Given the description of an element on the screen output the (x, y) to click on. 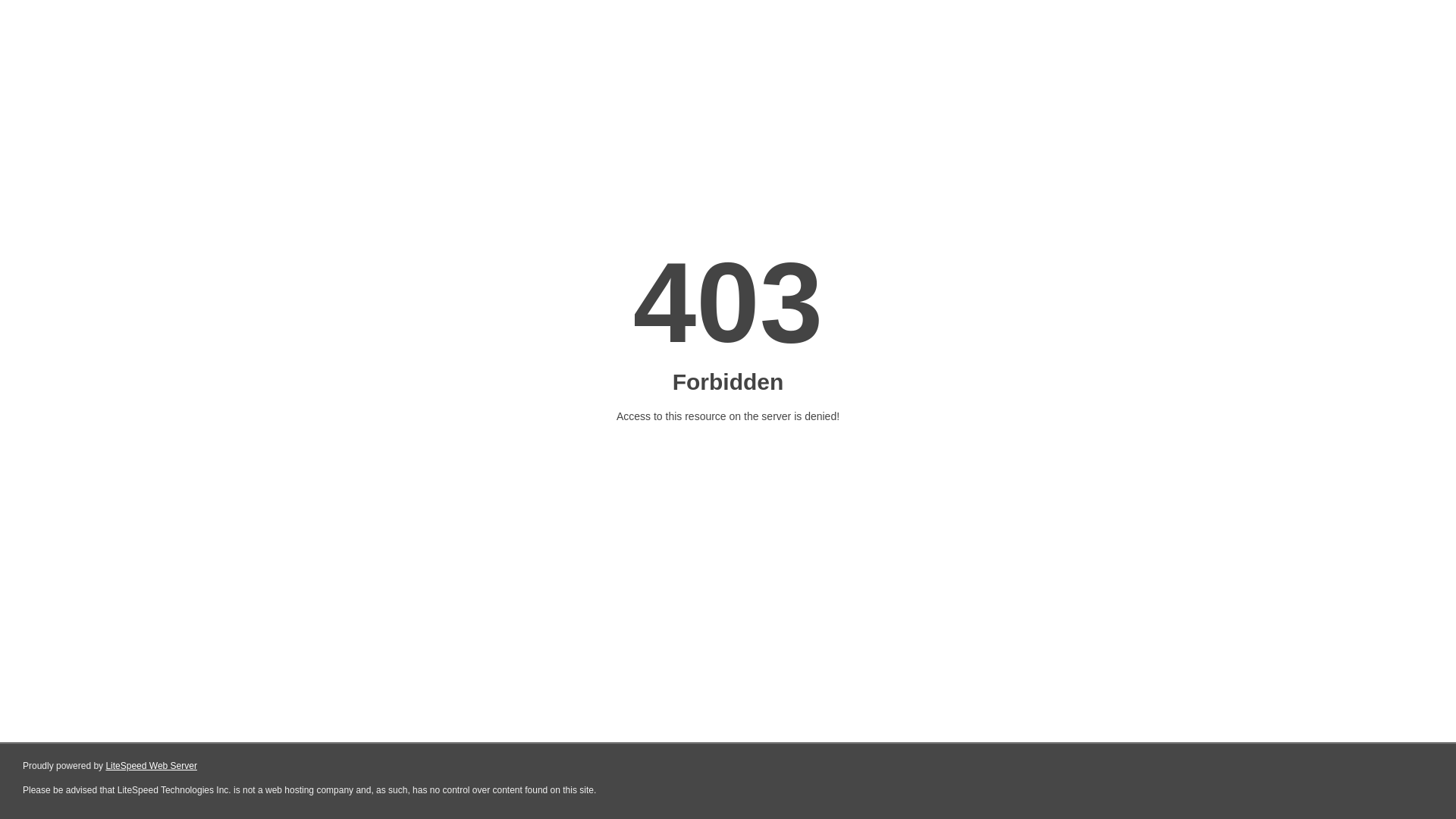
LiteSpeed Web Server Element type: text (151, 765)
